Given the description of an element on the screen output the (x, y) to click on. 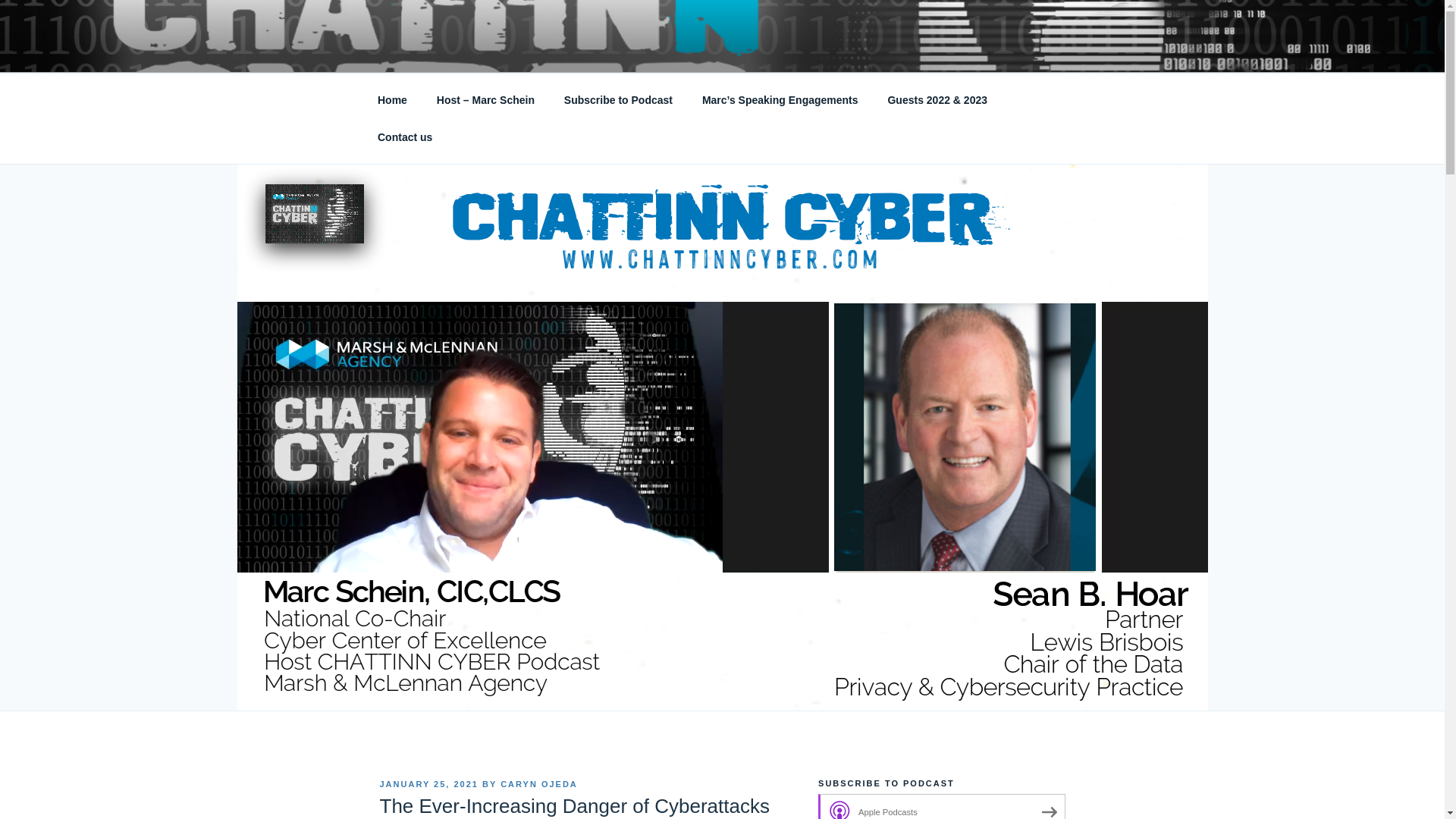
Subscribe to Podcast (617, 99)
Subscribe on Apple Podcasts (941, 806)
Apple Podcasts (941, 806)
Home (392, 99)
CARYN OJEDA (539, 783)
Contact us (404, 136)
JANUARY 25, 2021 (427, 783)
